Given the description of an element on the screen output the (x, y) to click on. 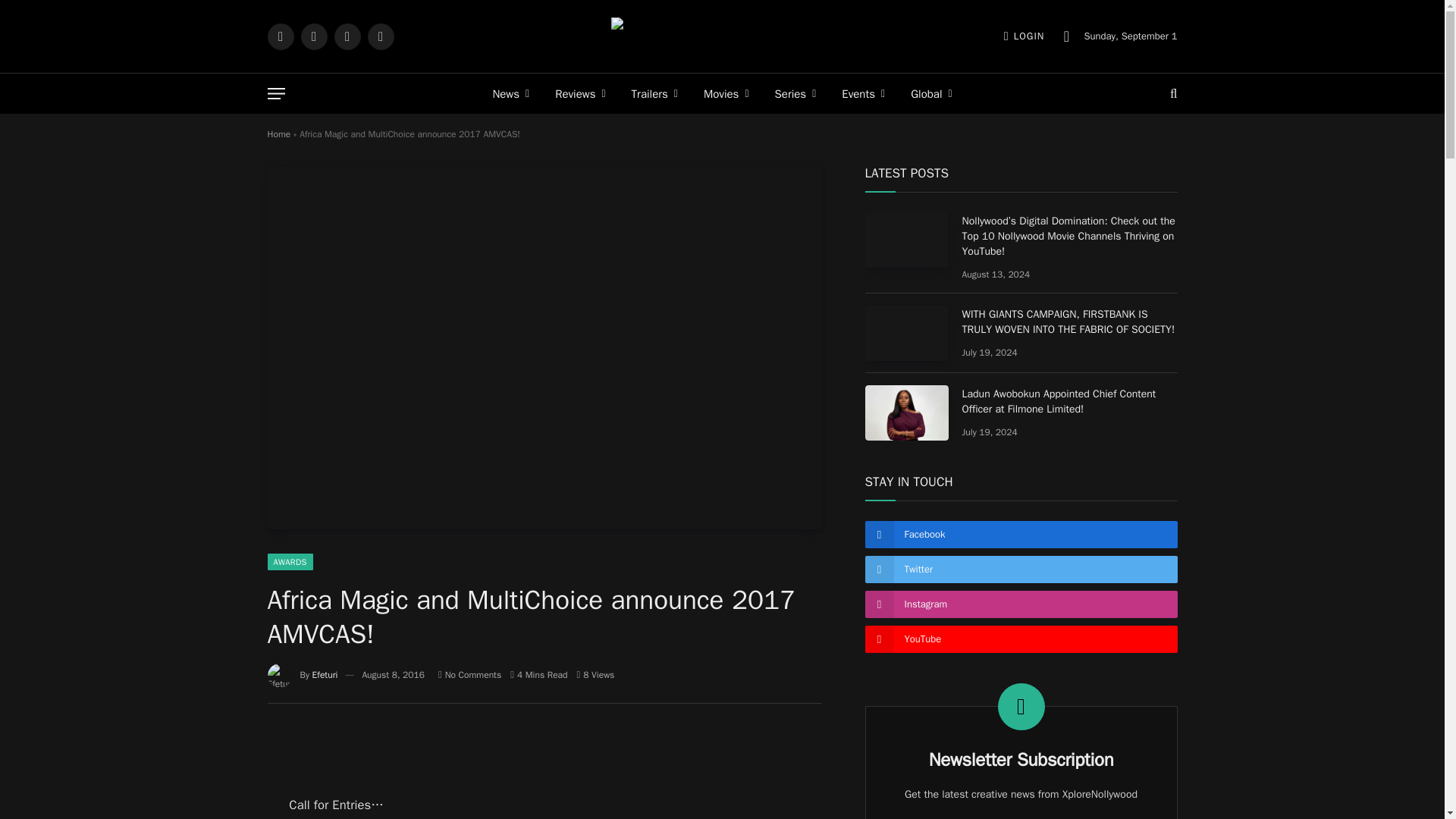
XploreNollywood (721, 36)
Posts by Efeturi (325, 674)
8 Article Views (595, 674)
Switch to Light Design. (1066, 36)
